Given the description of an element on the screen output the (x, y) to click on. 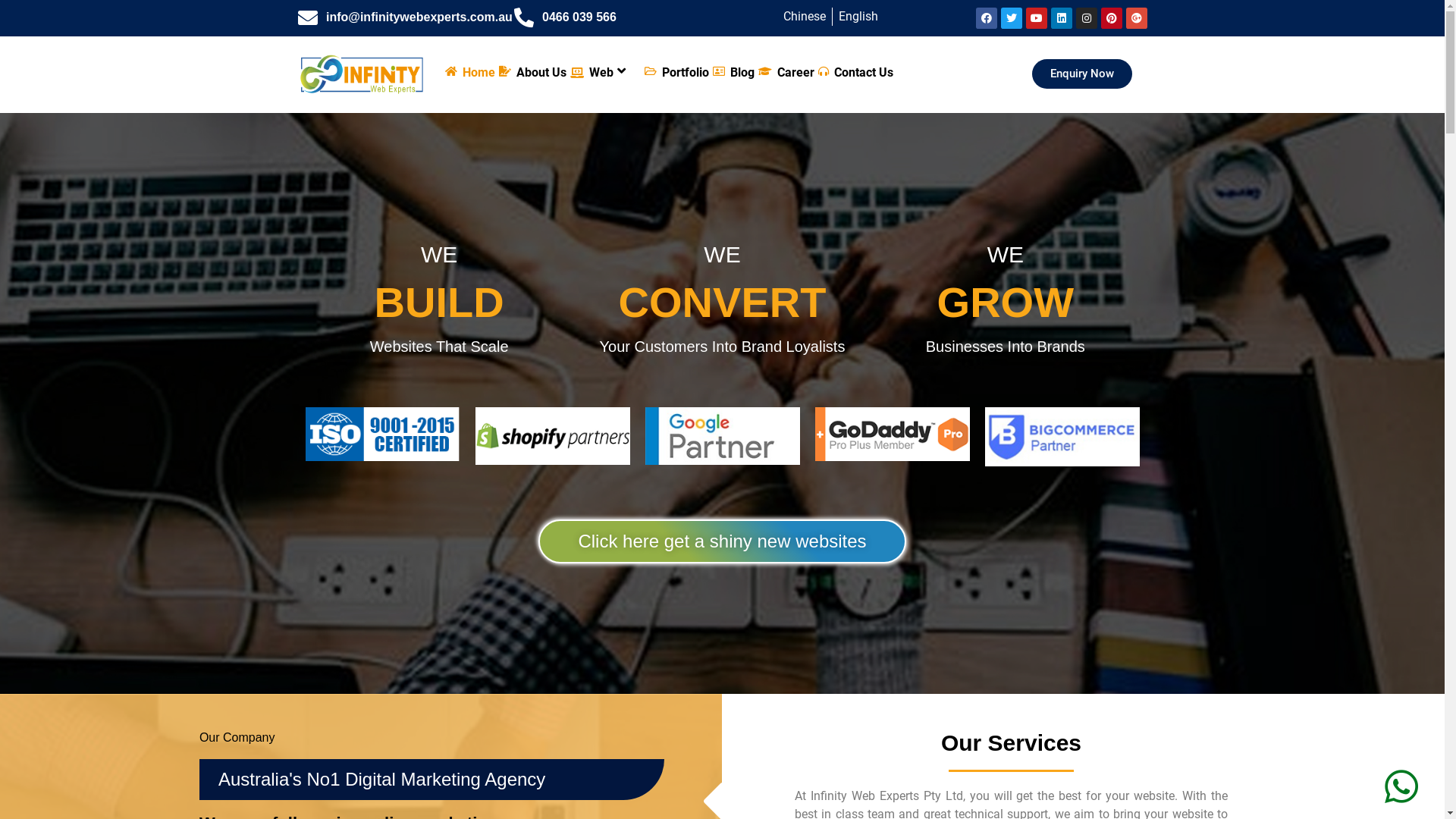
Enquiry Now Element type: text (1082, 73)
English Element type: text (858, 16)
Blog Element type: text (731, 73)
Portfolio Element type: text (674, 73)
About Us Element type: text (530, 73)
info@infinitywebexperts.com.au Element type: text (397, 17)
Career Element type: text (784, 73)
Click here get a shiny new websites Element type: text (721, 541)
Home Element type: text (468, 73)
Chinese Element type: text (803, 16)
0466 039 566 Element type: text (614, 17)
Contact Us Element type: text (853, 73)
Contact Us On WhatsApp Element type: hover (1401, 778)
